Given the description of an element on the screen output the (x, y) to click on. 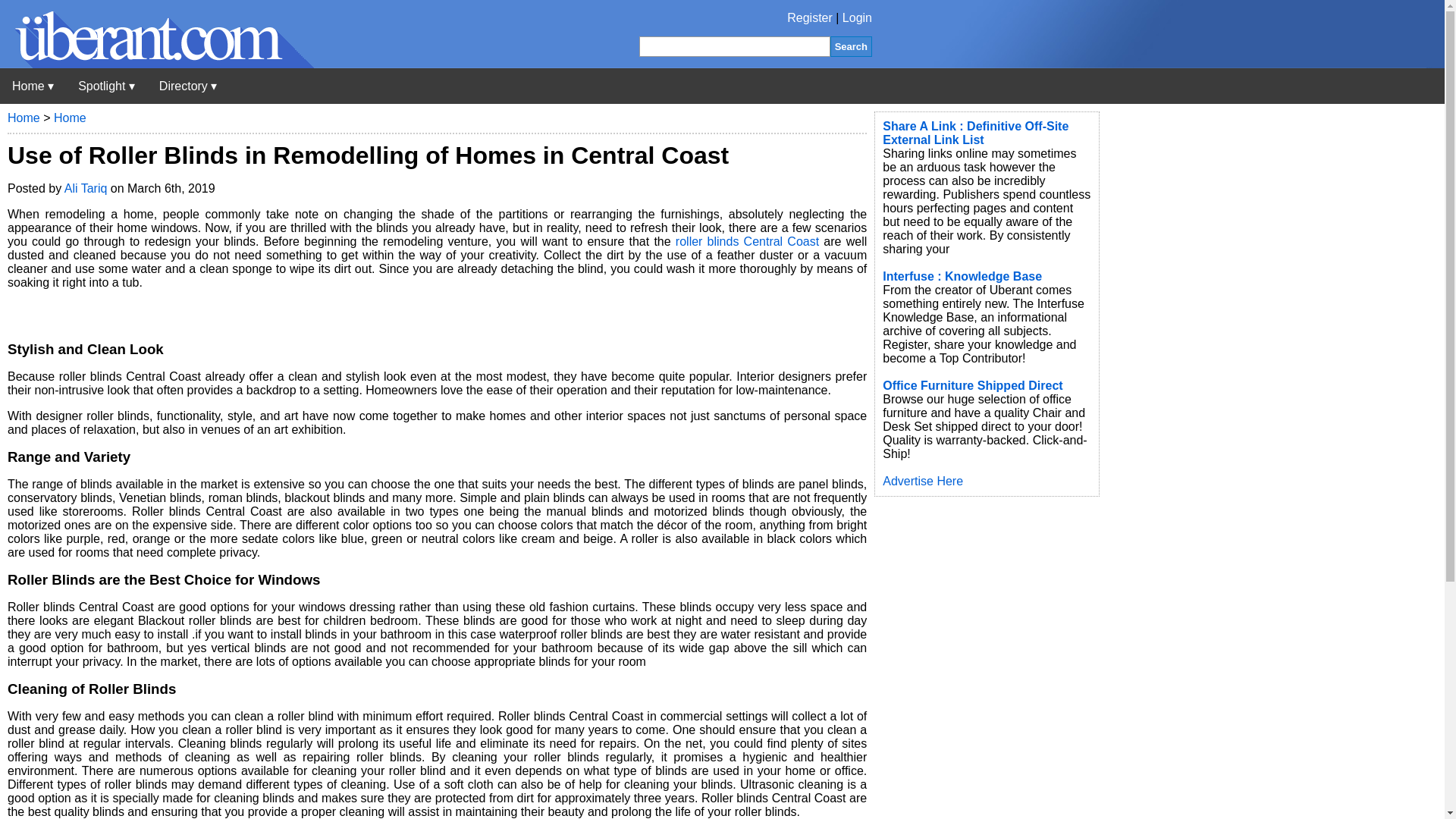
Search (850, 46)
Search (850, 46)
Login (857, 17)
Register (809, 17)
Uberant (32, 85)
Uberant (157, 63)
